Given the description of an element on the screen output the (x, y) to click on. 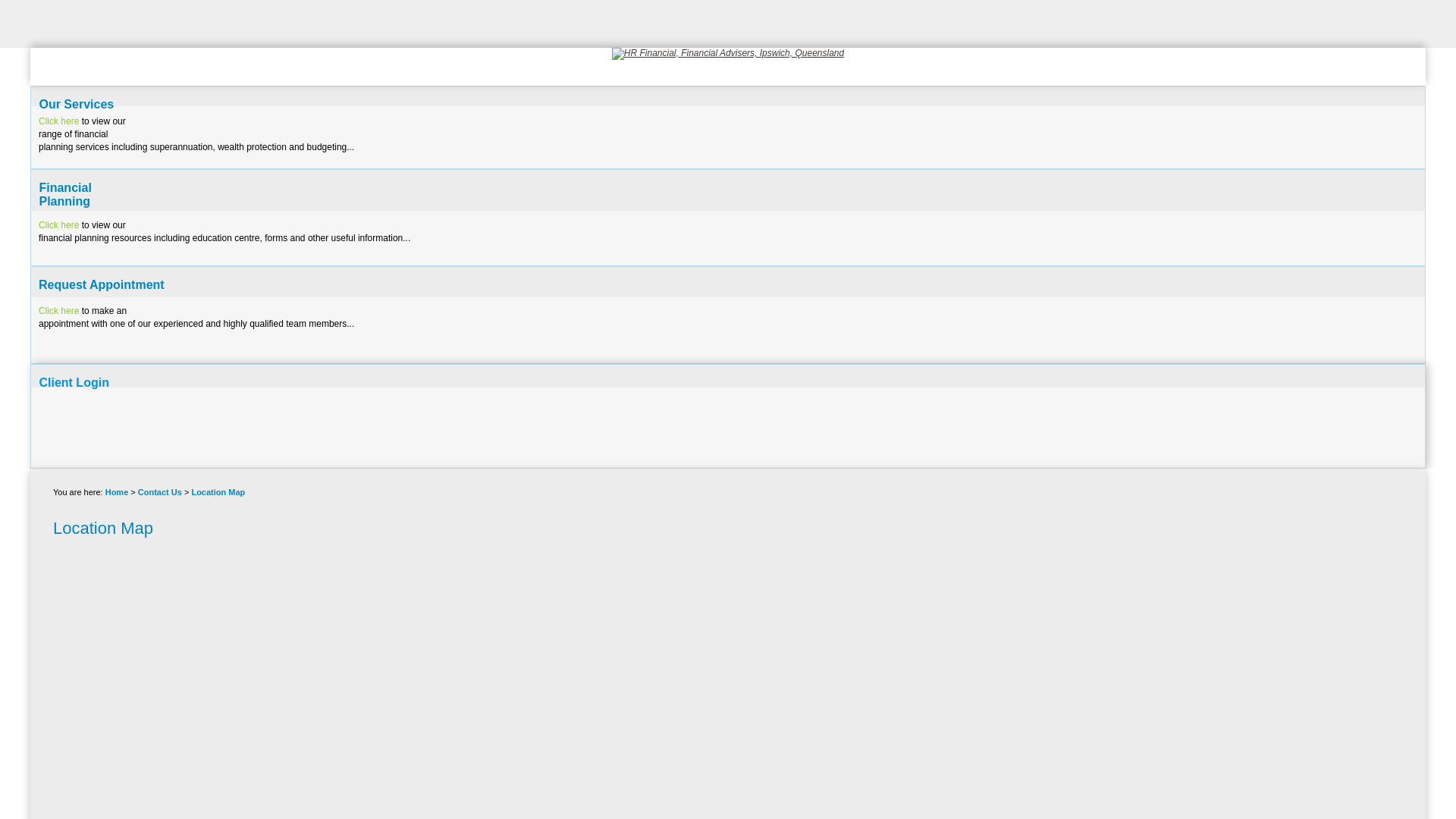
Click here Element type: text (58, 121)
Request Appointment Element type: text (101, 284)
Contact Us Element type: text (160, 491)
Click here Element type: text (58, 224)
Click here Element type: text (58, 310)
Home Element type: text (116, 491)
HR Financial, Financial Advisers, Ipswich, Queensland Element type: hover (727, 53)
Financial Planning Element type: text (64, 194)
Location Map Element type: text (217, 491)
Our Services Element type: text (75, 103)
